Given the description of an element on the screen output the (x, y) to click on. 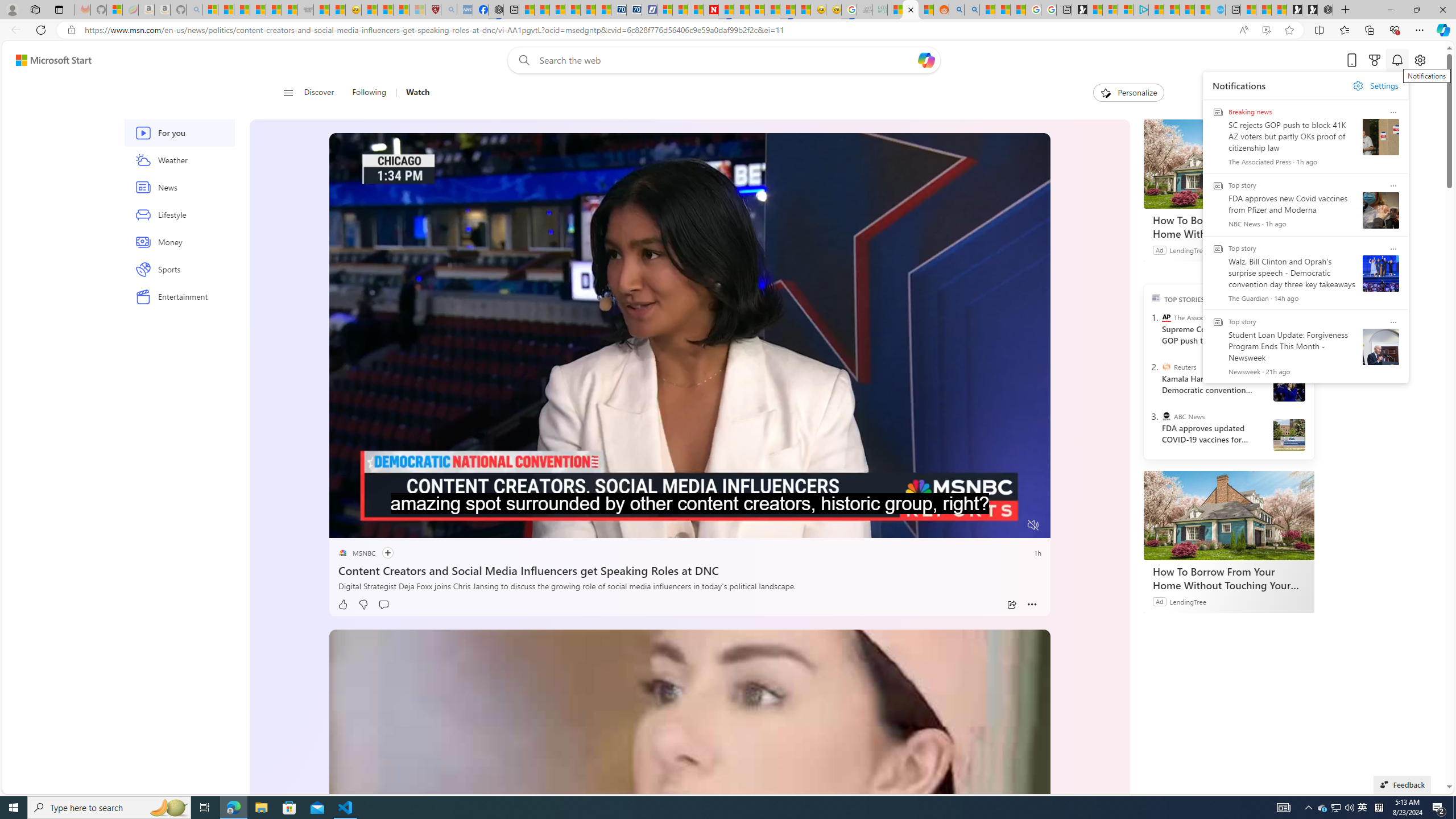
14 Common Myths Debunked By Scientific Facts (741, 9)
Enhance video (1266, 29)
Open navigation menu (287, 92)
